Given the description of an element on the screen output the (x, y) to click on. 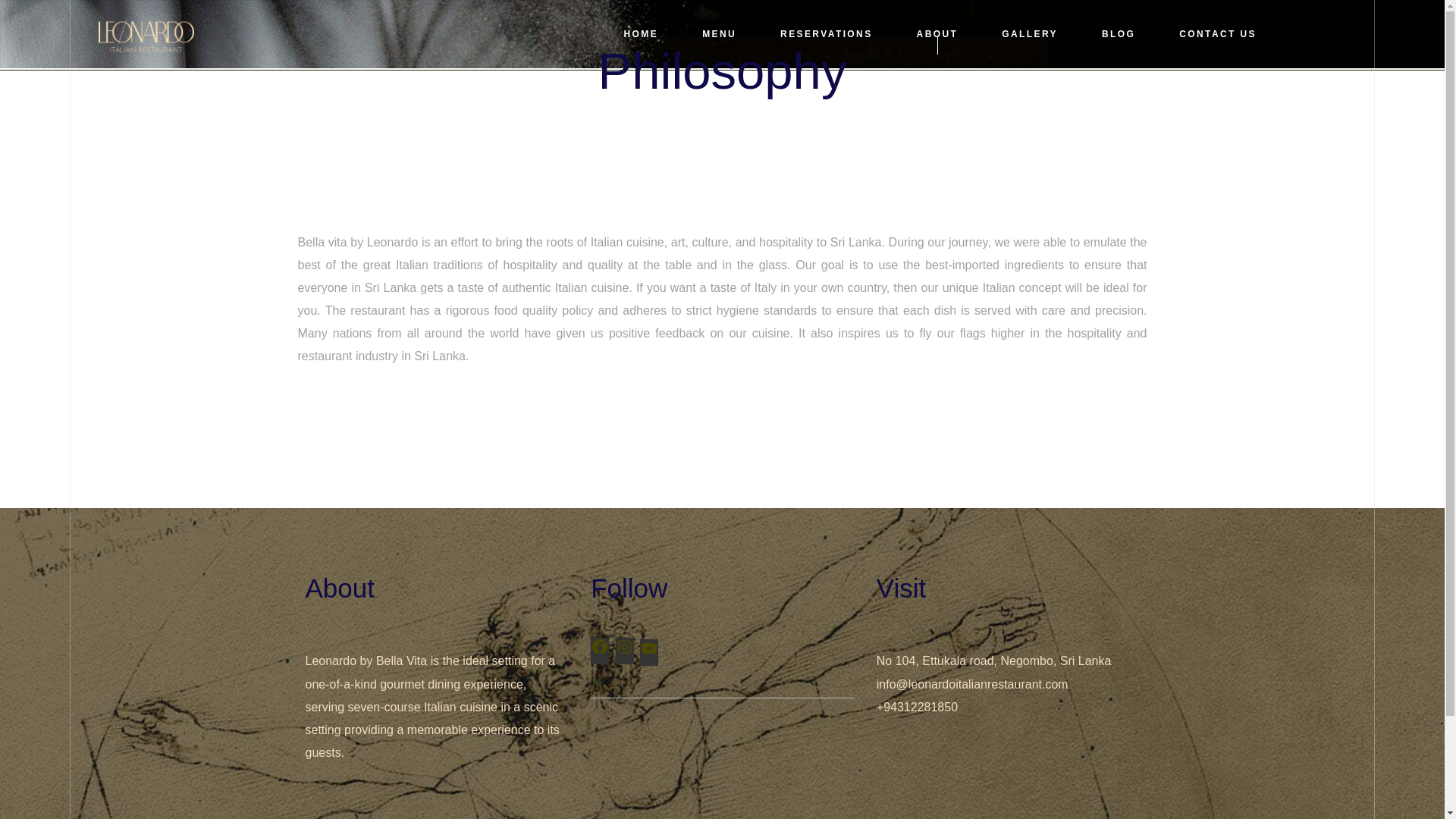
GALLERY (1029, 34)
ABOUT (937, 34)
RESERVATIONS (826, 34)
CONTACT US (1217, 34)
